Given the description of an element on the screen output the (x, y) to click on. 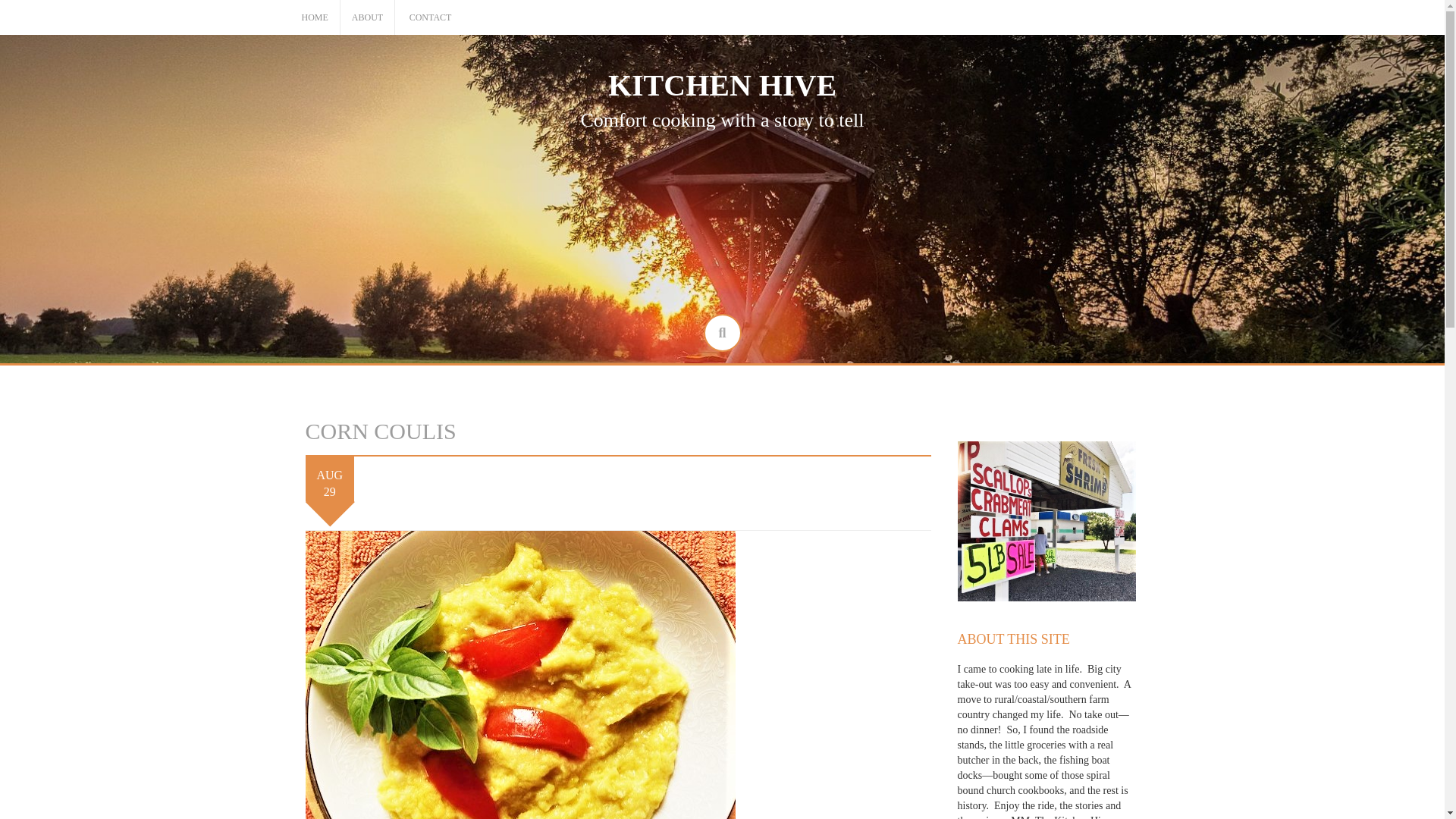
CONTACT (430, 17)
ABOUT (367, 17)
KITCHEN HIVE (721, 84)
HOME (315, 17)
